Given the description of an element on the screen output the (x, y) to click on. 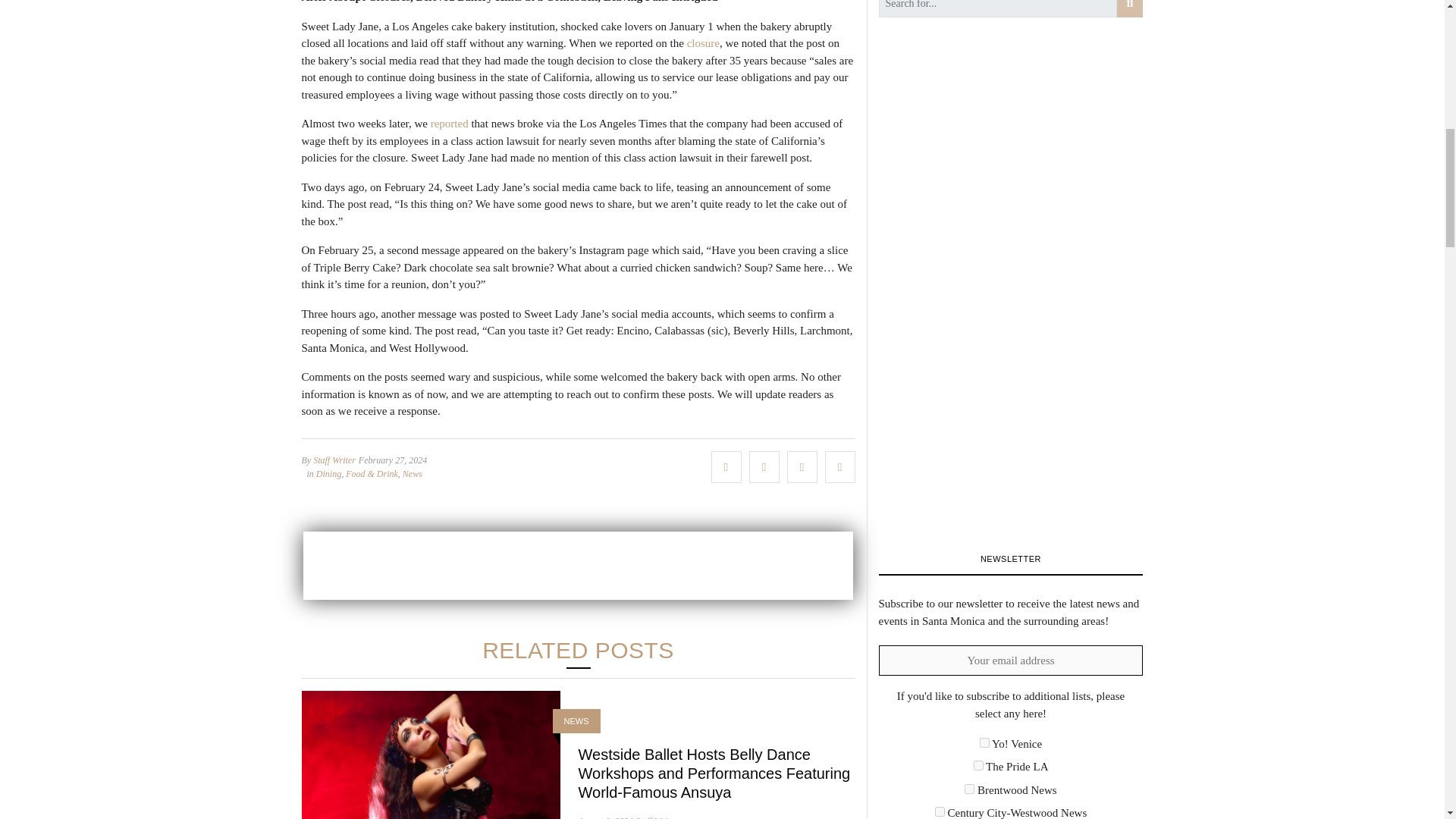
Posts by Staff Writer (656, 817)
33f79e7e4d (979, 765)
reported (449, 123)
3rd party ad content (577, 564)
Posts by Staff Writer (334, 460)
closure (703, 42)
Staff Writer (334, 460)
5fac618226 (939, 811)
